Given the description of an element on the screen output the (x, y) to click on. 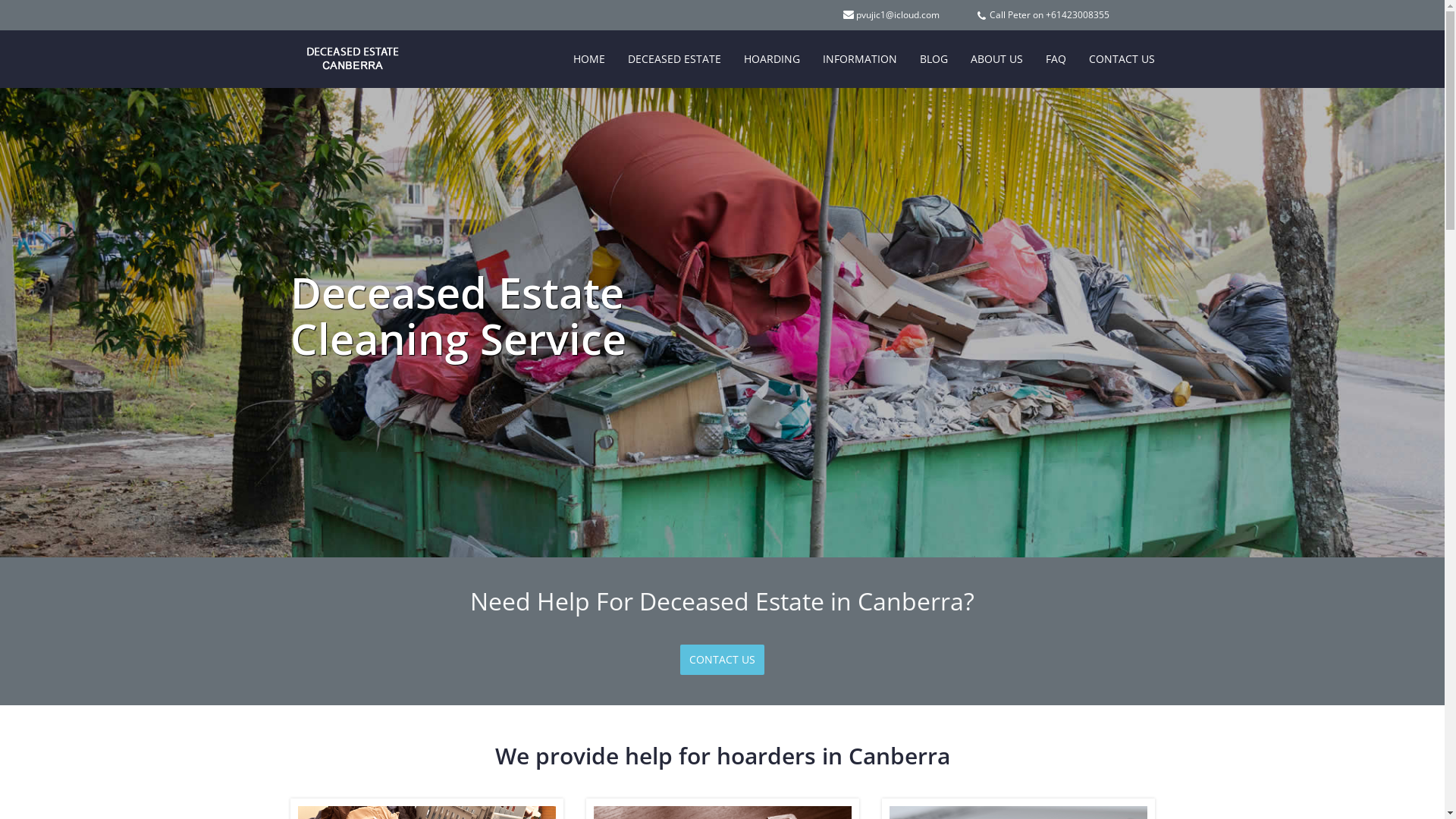
INFORMATION Element type: text (859, 58)
Deceased Estate Canberra Element type: hover (341, 49)
FAQ Element type: text (1055, 58)
CONTACT US Element type: text (1120, 58)
DECEASED ESTATE Element type: text (673, 58)
+61423008355 Element type: text (1076, 14)
ABOUT US Element type: text (995, 58)
CONTACT US Element type: text (722, 659)
pvujic1@icloud.com Element type: text (896, 14)
HOME Element type: text (588, 58)
BLOG Element type: text (933, 58)
HOARDING Element type: text (771, 58)
